Given the description of an element on the screen output the (x, y) to click on. 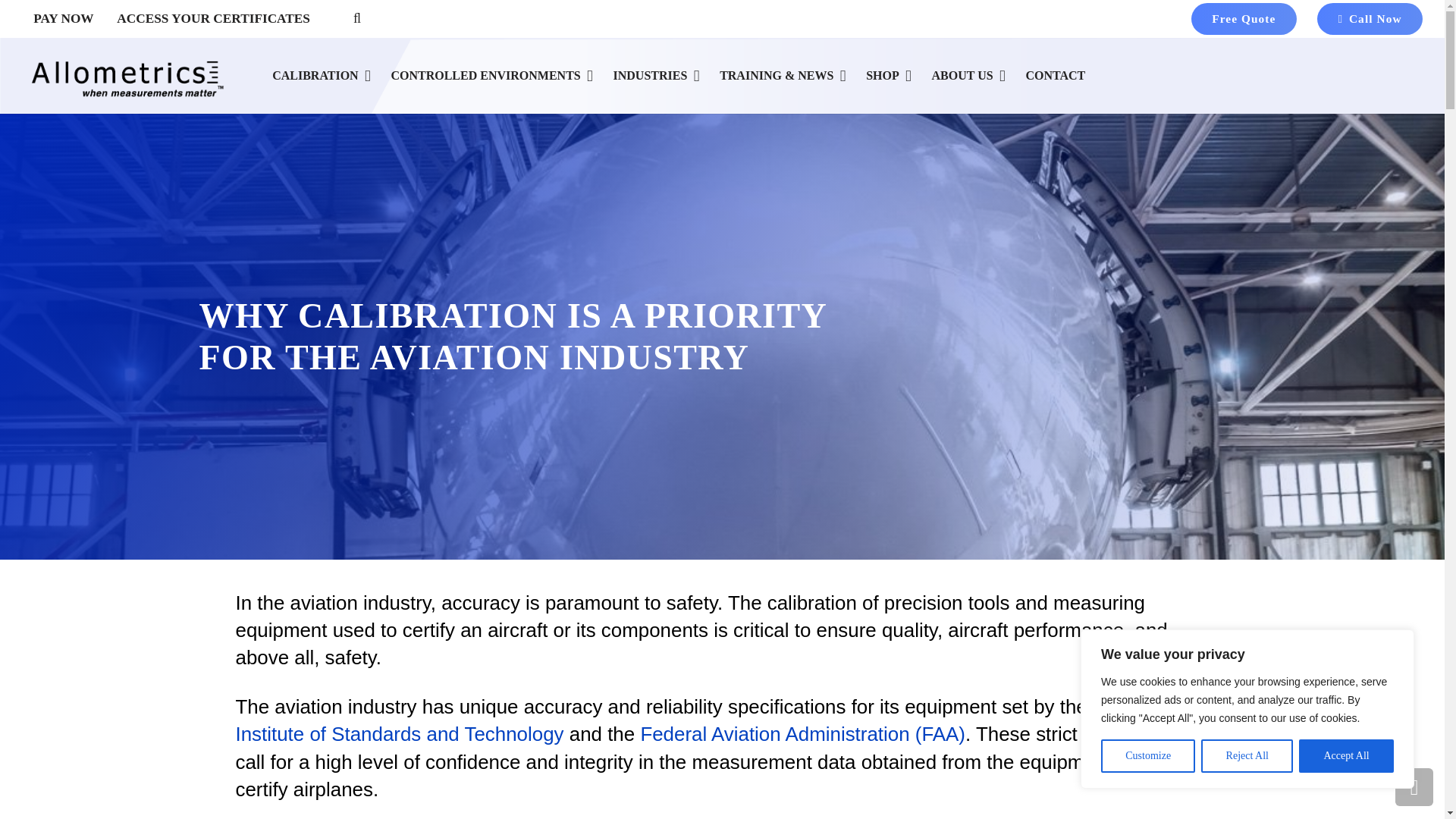
PAY NOW (62, 18)
Reject All (1246, 756)
Free Quote (1244, 19)
Back to top (1413, 786)
Call Now (1369, 19)
Accept All (1345, 756)
Customize (1147, 756)
ACCESS YOUR CERTIFICATES (212, 18)
CALIBRATION (321, 75)
